Given the description of an element on the screen output the (x, y) to click on. 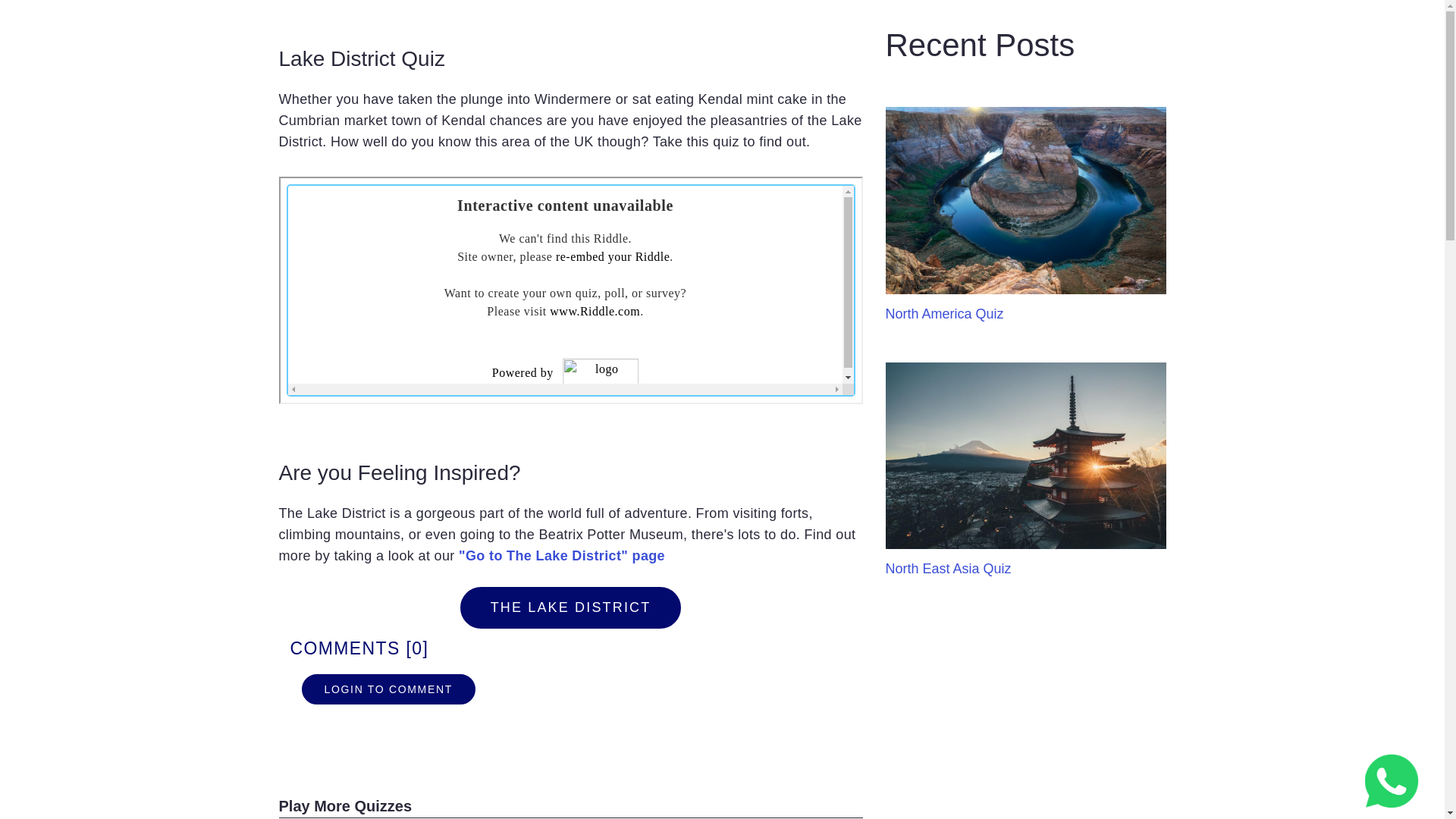
QUIZ: How much do you know about the Lake District? (571, 290)
